Given the description of an element on the screen output the (x, y) to click on. 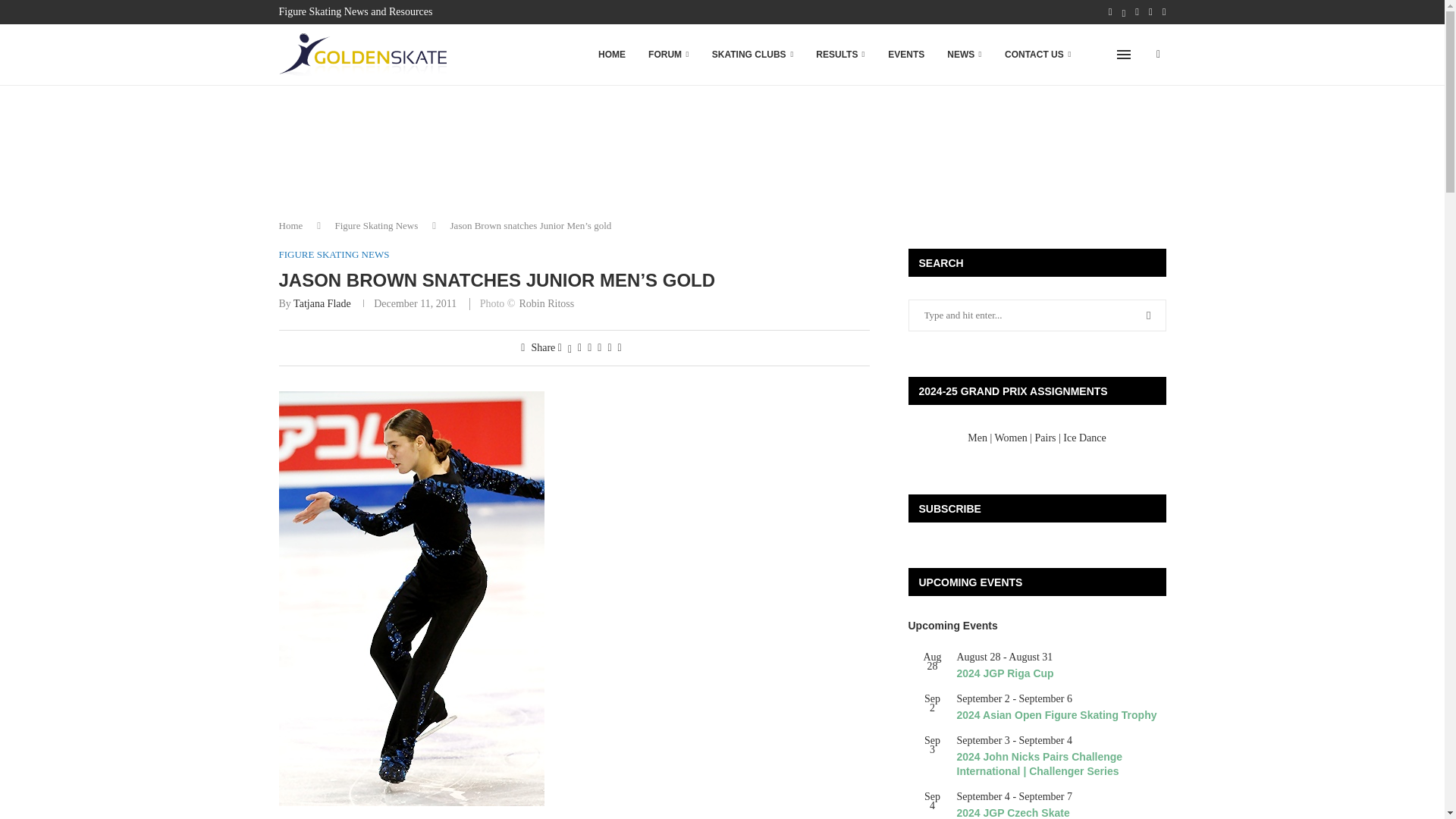
FORUM (668, 54)
RESULTS (840, 54)
SKATING CLUBS (752, 54)
